Given the description of an element on the screen output the (x, y) to click on. 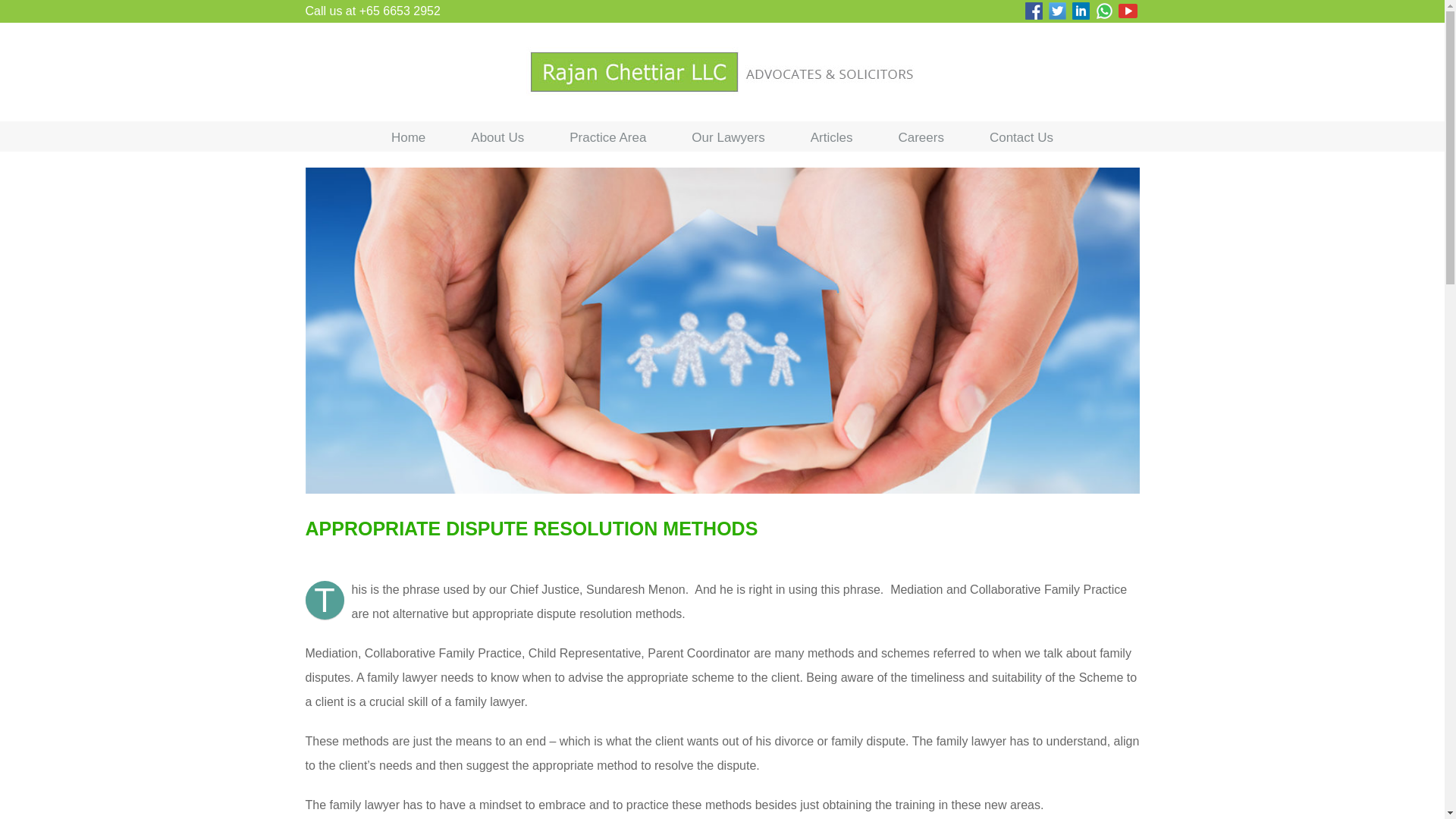
About Us (497, 136)
Our Lawyers (727, 136)
Careers (920, 136)
Home (408, 136)
Practice Area (607, 136)
Articles (831, 136)
Contact Us (1021, 136)
